Given the description of an element on the screen output the (x, y) to click on. 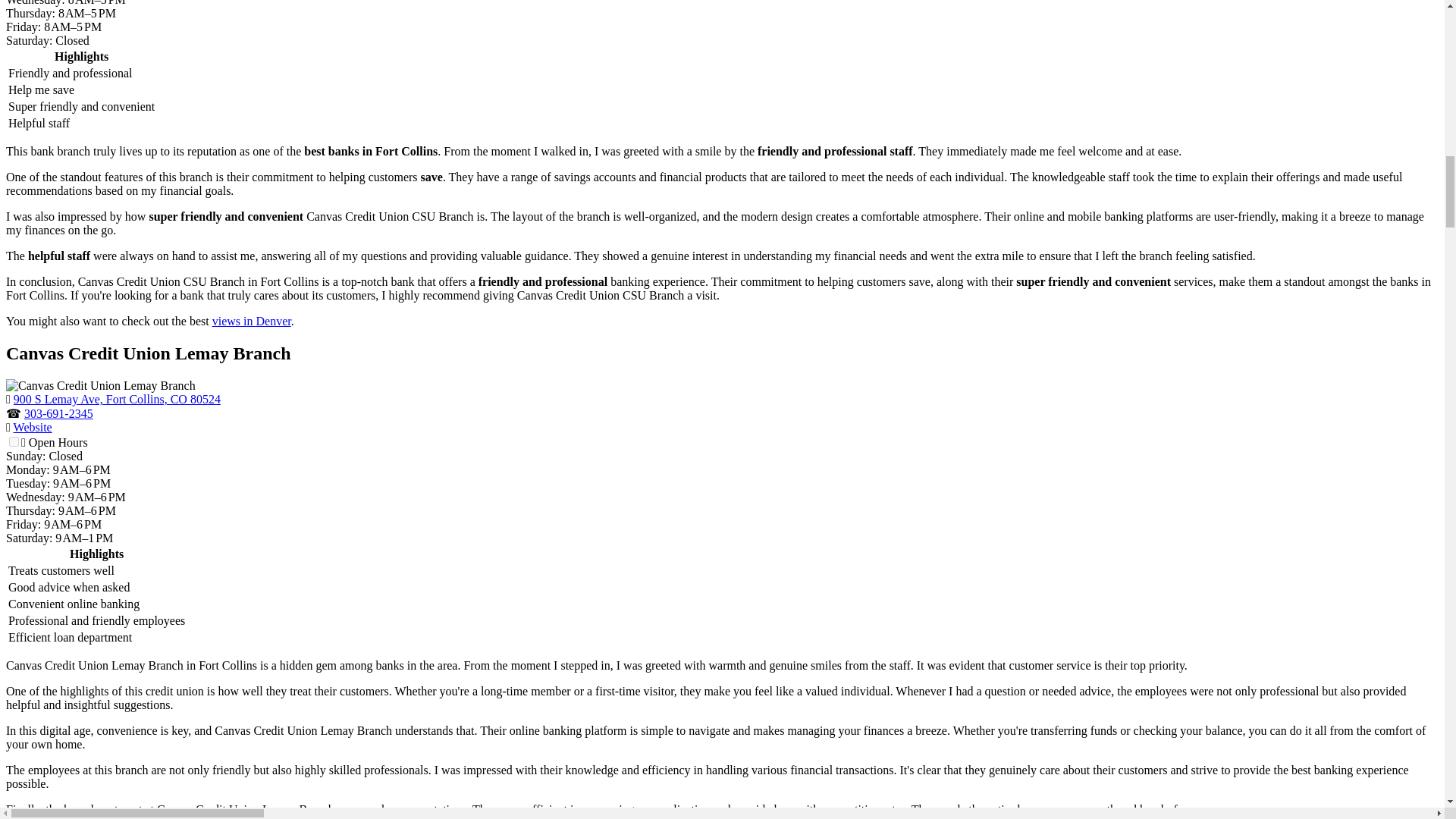
on (13, 441)
Website (32, 427)
views in Denver (251, 320)
303-691-2345 (58, 413)
900 S Lemay Ave, Fort Collins, CO 80524 (117, 399)
